Given the description of an element on the screen output the (x, y) to click on. 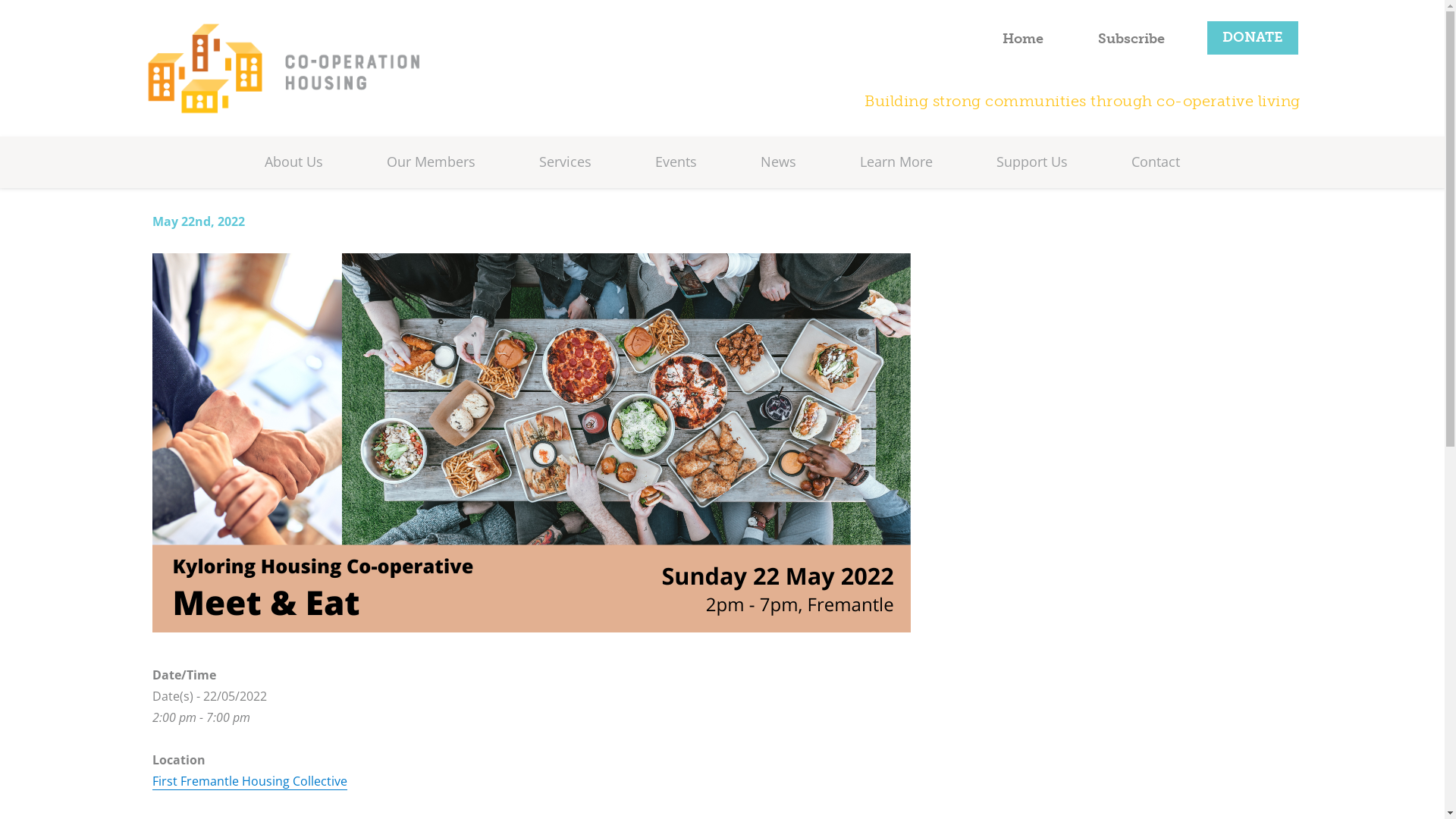
Learn More Element type: text (895, 162)
Our Members Element type: text (430, 162)
Events Element type: text (675, 162)
First Fremantle Housing Collective Element type: text (248, 780)
Services Element type: text (565, 162)
News Element type: text (778, 162)
Subscribe Element type: text (1130, 38)
Contact Element type: text (1155, 162)
DONATE Element type: text (1252, 37)
Support Us Element type: text (1031, 162)
Home Element type: text (1022, 38)
About Us Element type: text (293, 162)
